Given the description of an element on the screen output the (x, y) to click on. 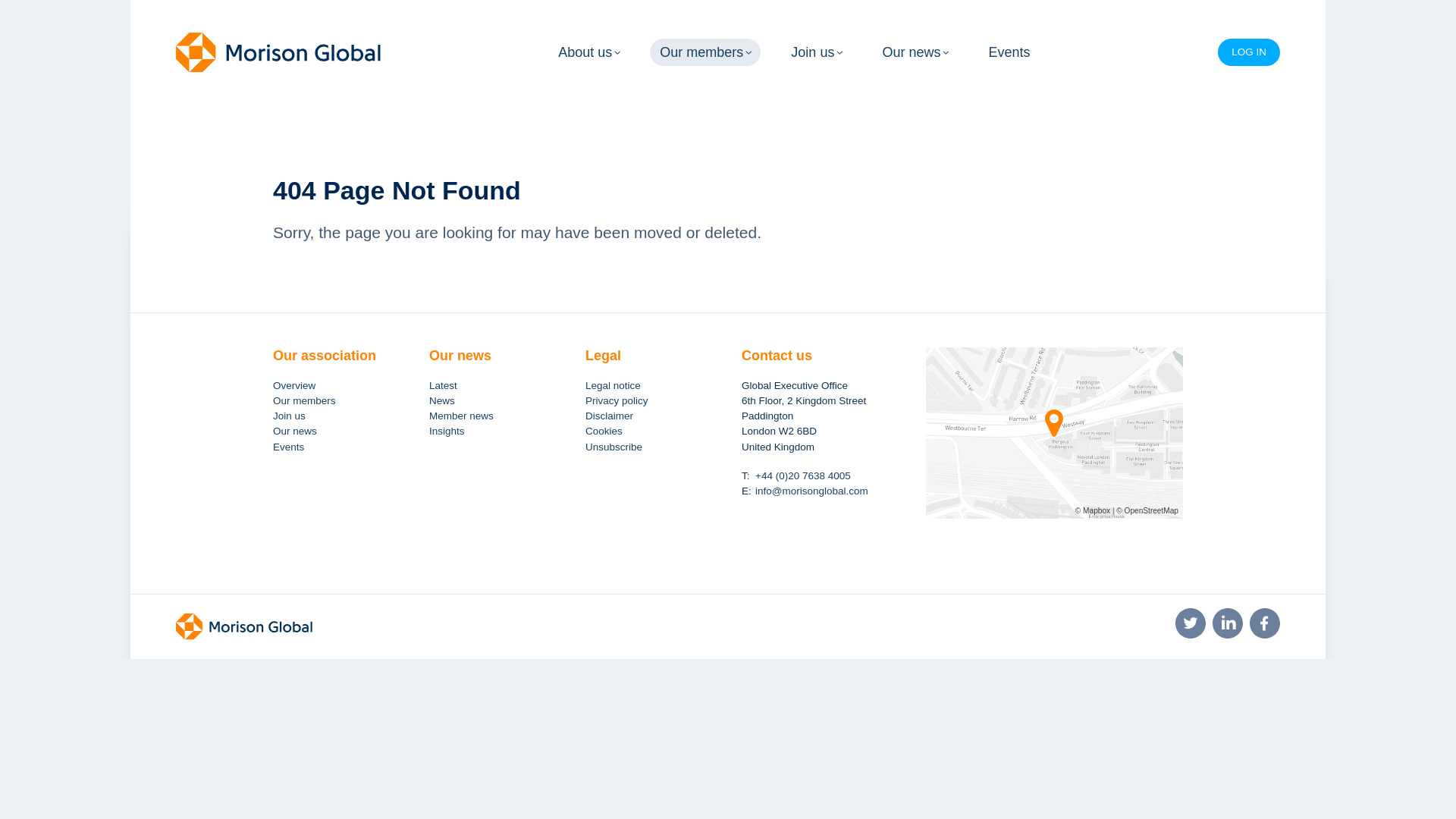
Join us (815, 52)
LOG IN (1248, 52)
Events (1009, 52)
Our members (704, 52)
Our news (915, 52)
About us (588, 52)
